Given the description of an element on the screen output the (x, y) to click on. 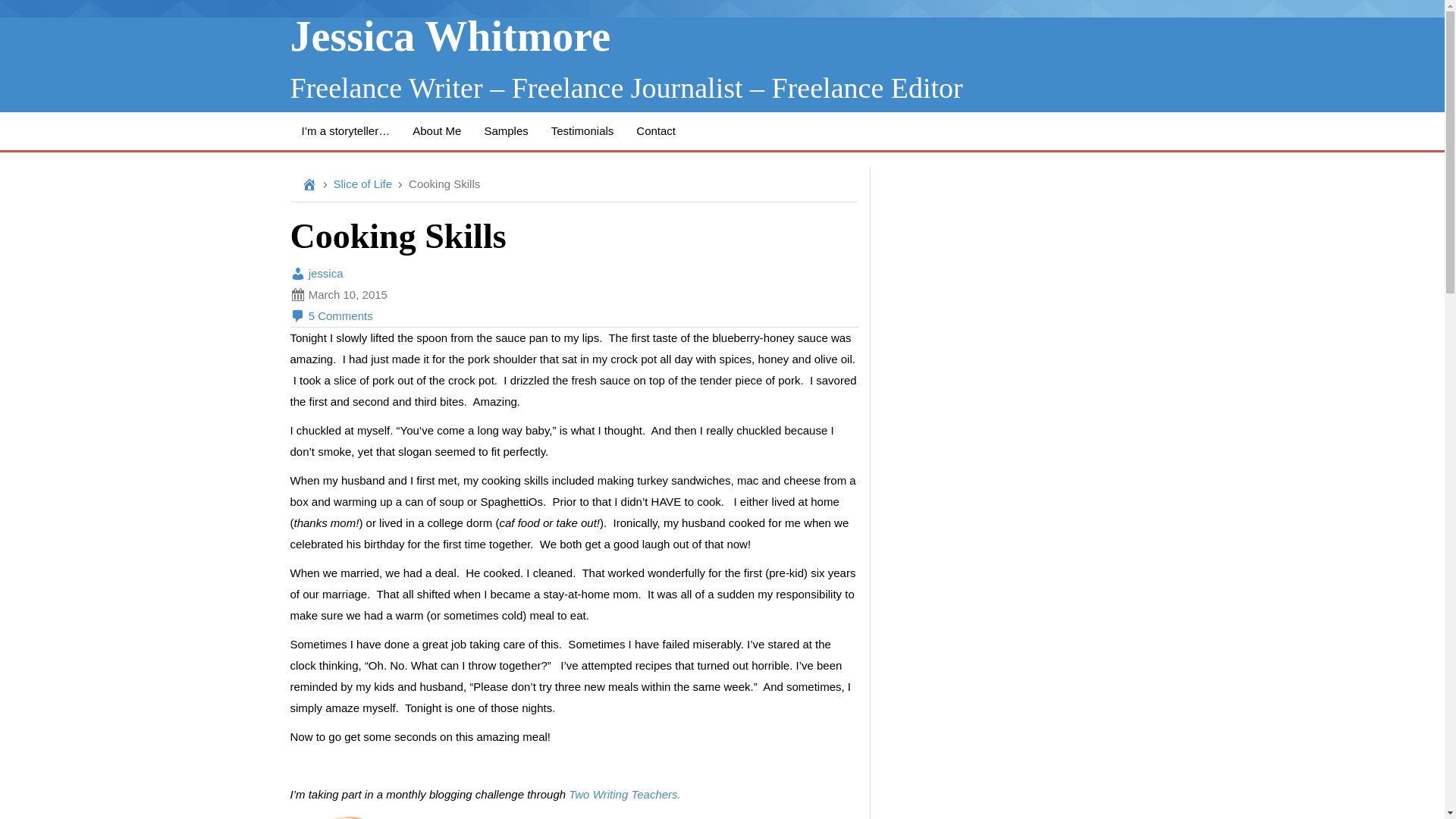
Jessica Whitmore (449, 36)
Slice of Life (363, 183)
About Me (436, 130)
 jessica (315, 273)
Contact (655, 130)
Tuesday, March 10, 2015 5:16 pm (573, 294)
Testimonials (583, 130)
5 Comments (330, 315)
Two Writing Teachers.  (626, 793)
Slice of Life (363, 183)
Samples (504, 130)
